Given the description of an element on the screen output the (x, y) to click on. 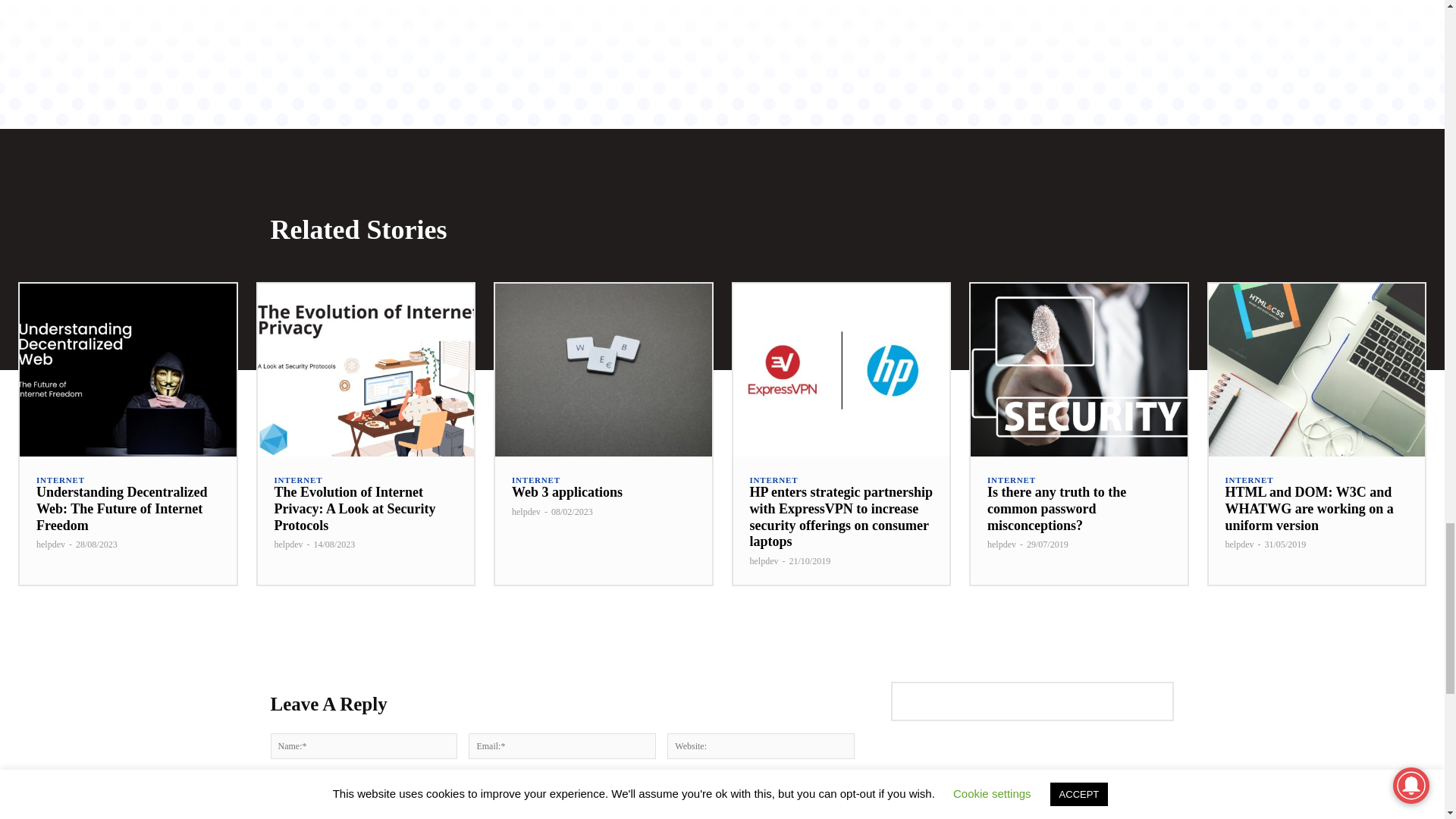
yes (274, 783)
